Given the description of an element on the screen output the (x, y) to click on. 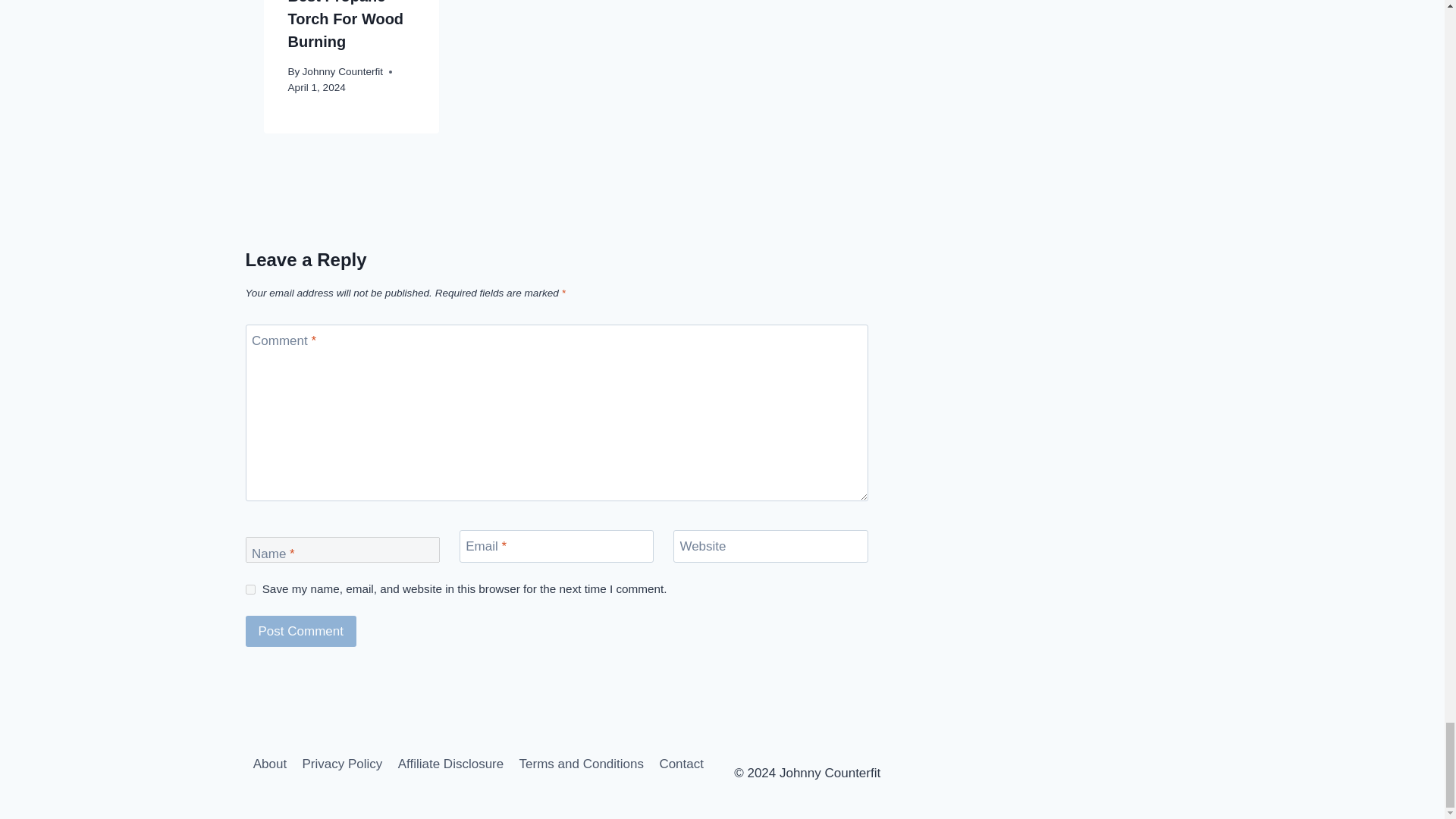
yes (251, 589)
Post Comment (301, 631)
